Given the description of an element on the screen output the (x, y) to click on. 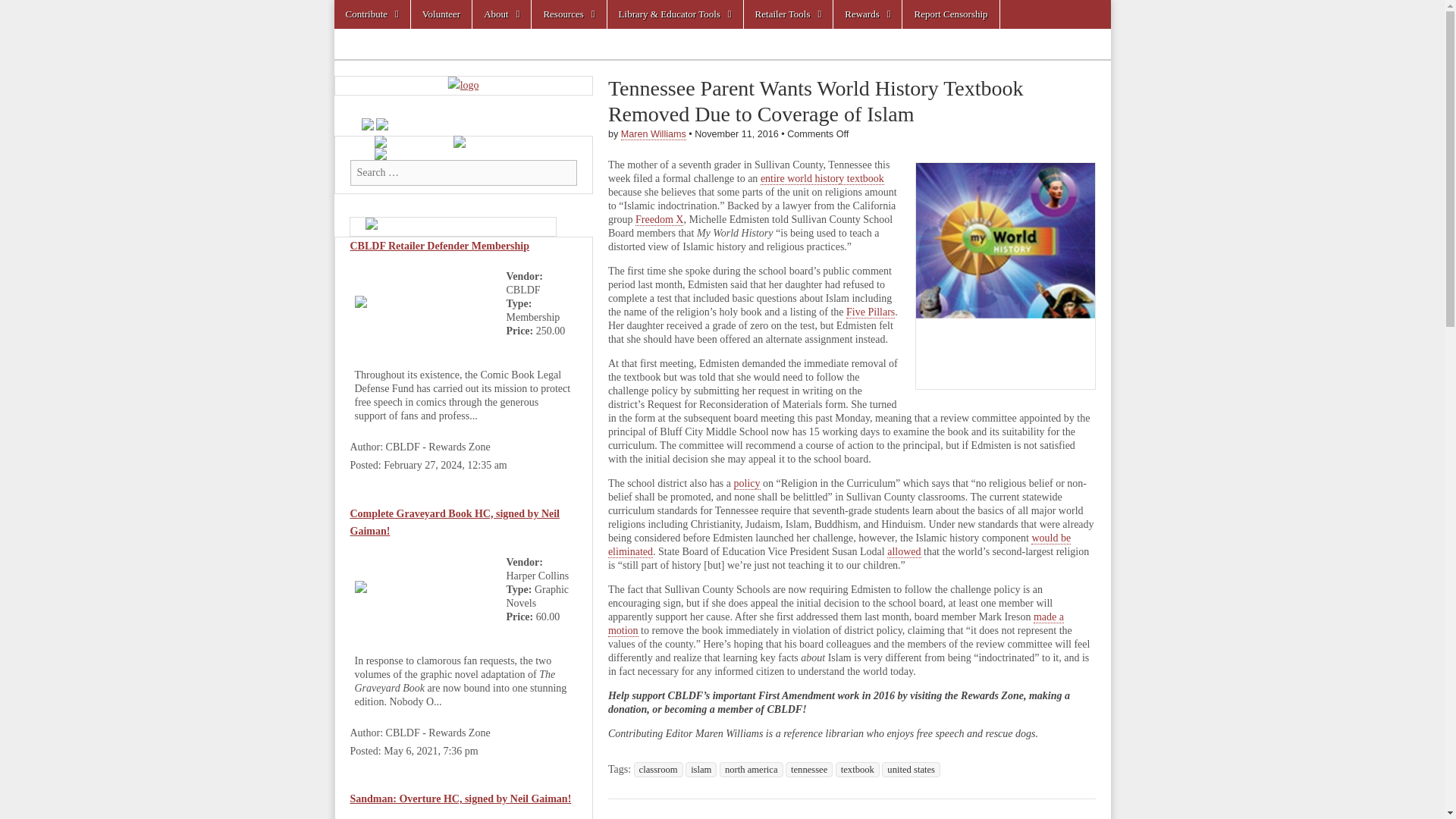
Posts by Maren Williams (653, 134)
Retail Tools (788, 14)
About (501, 14)
Volunteer (440, 14)
Resources (568, 14)
Contribute (371, 14)
